Given the description of an element on the screen output the (x, y) to click on. 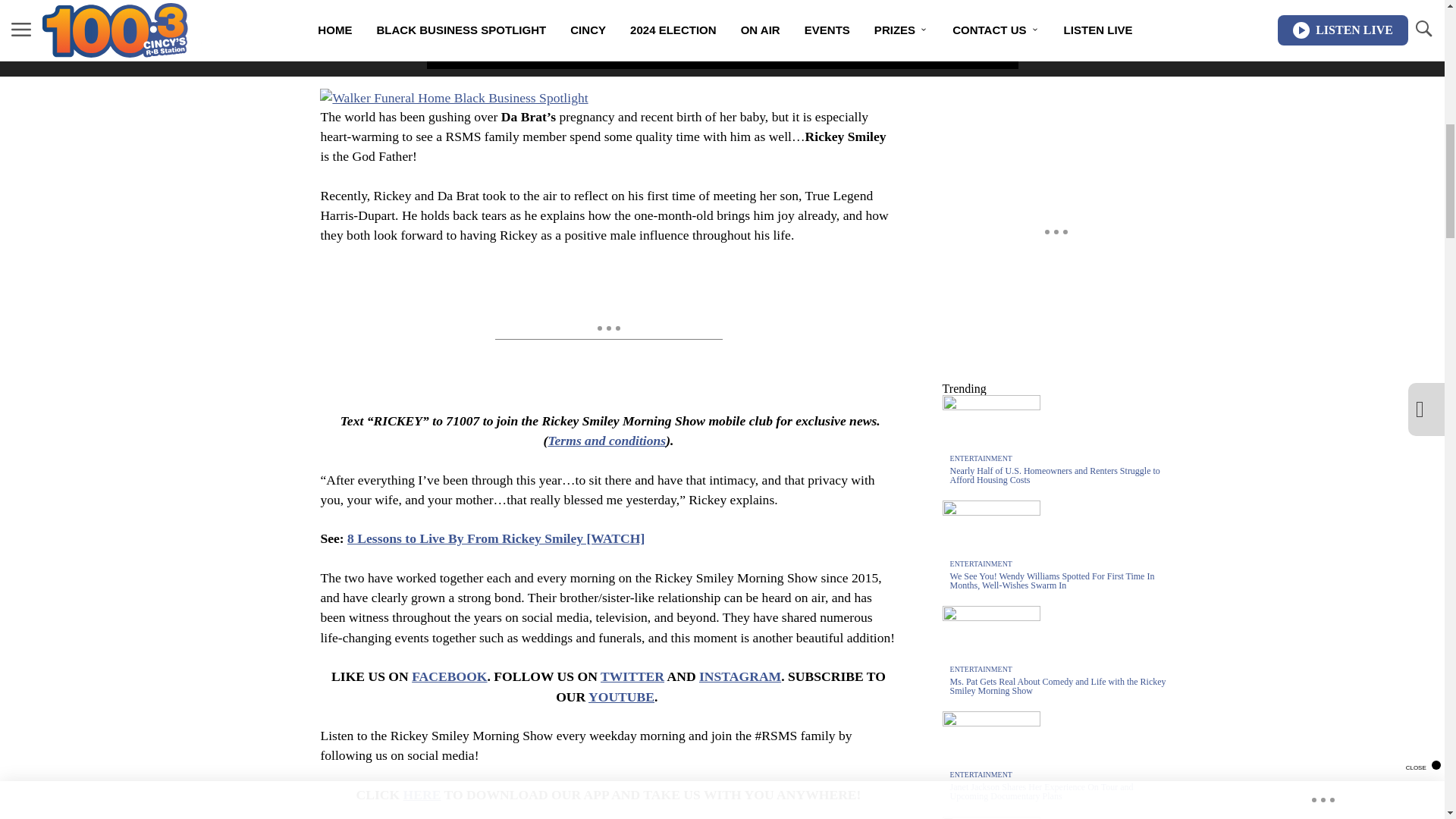
INSTAGRAM (739, 676)
TWITTER (631, 676)
HERE (422, 794)
Terms and conditions (606, 440)
YOUTUBE (620, 696)
FACEBOOK (449, 676)
